Given the description of an element on the screen output the (x, y) to click on. 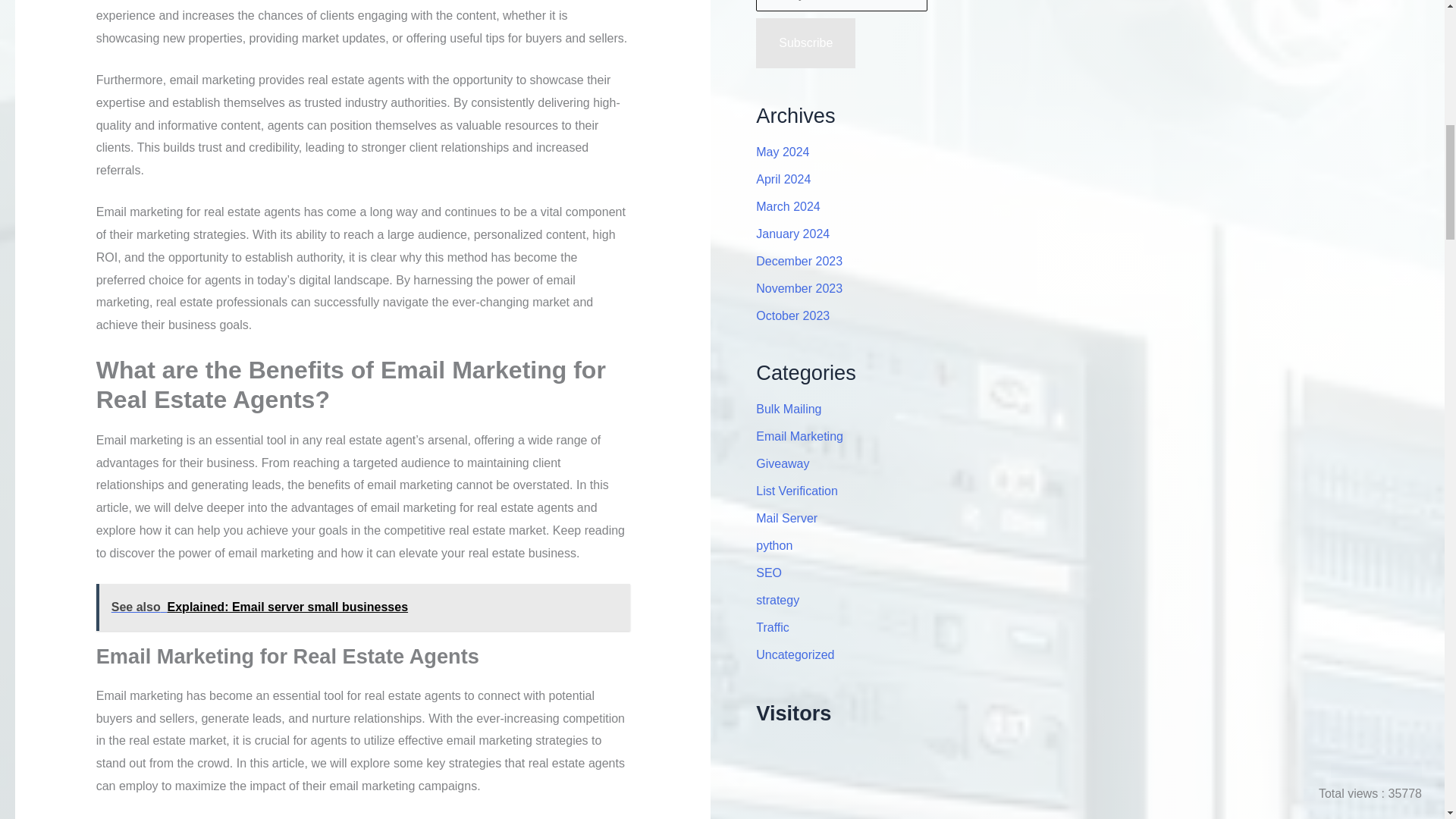
Subscribe (805, 42)
See also  Explained: Email server small businesses (363, 606)
